Given the description of an element on the screen output the (x, y) to click on. 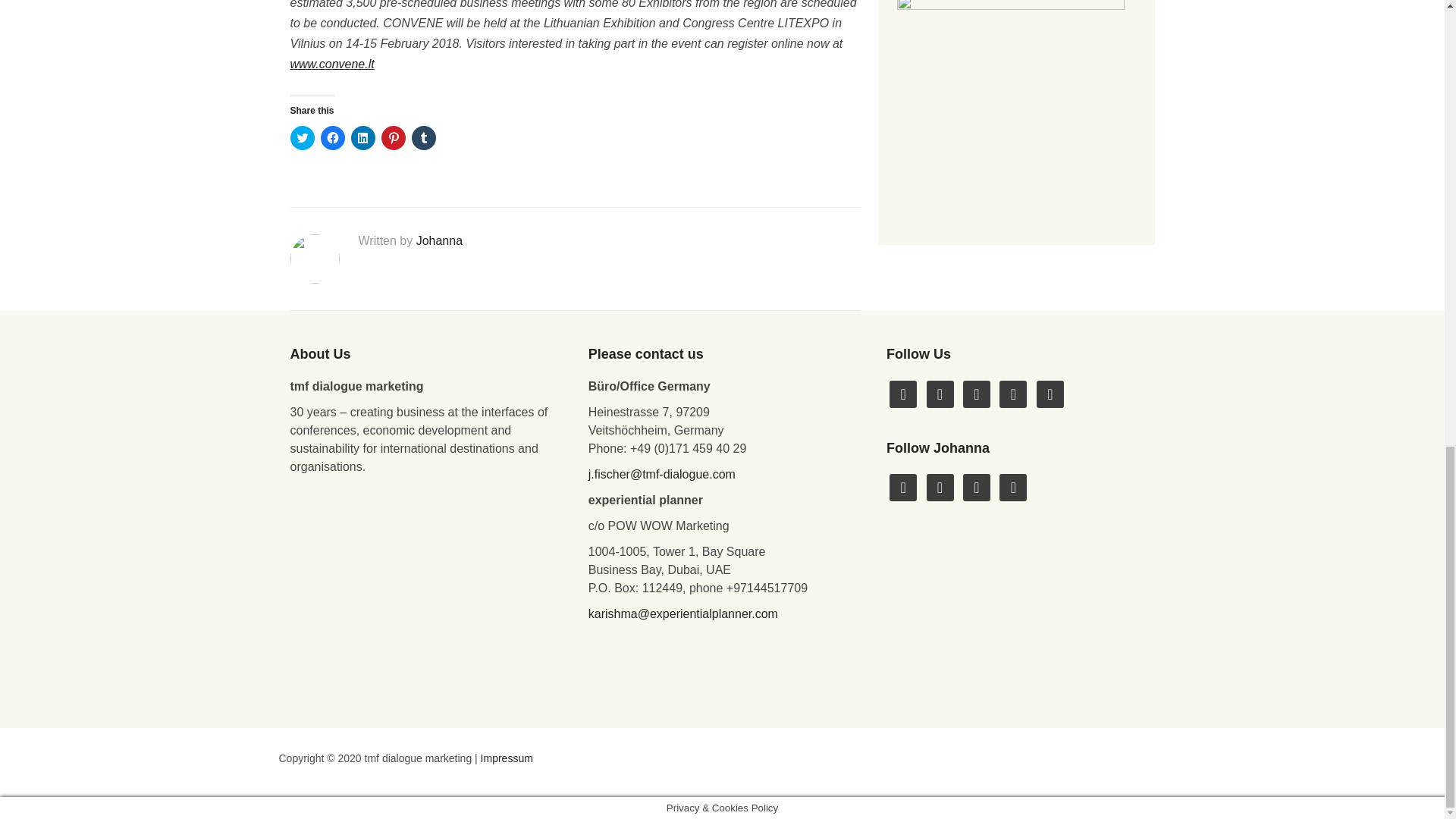
linkedin (939, 486)
Click to share on Tumblr (422, 137)
twitter (903, 486)
Posts by Johanna (439, 240)
youtube (1012, 392)
Default Label (939, 486)
Impressum (506, 758)
Default Label (976, 486)
www.convene.lt (331, 63)
Friend me on Facebook (903, 392)
